Given the description of an element on the screen output the (x, y) to click on. 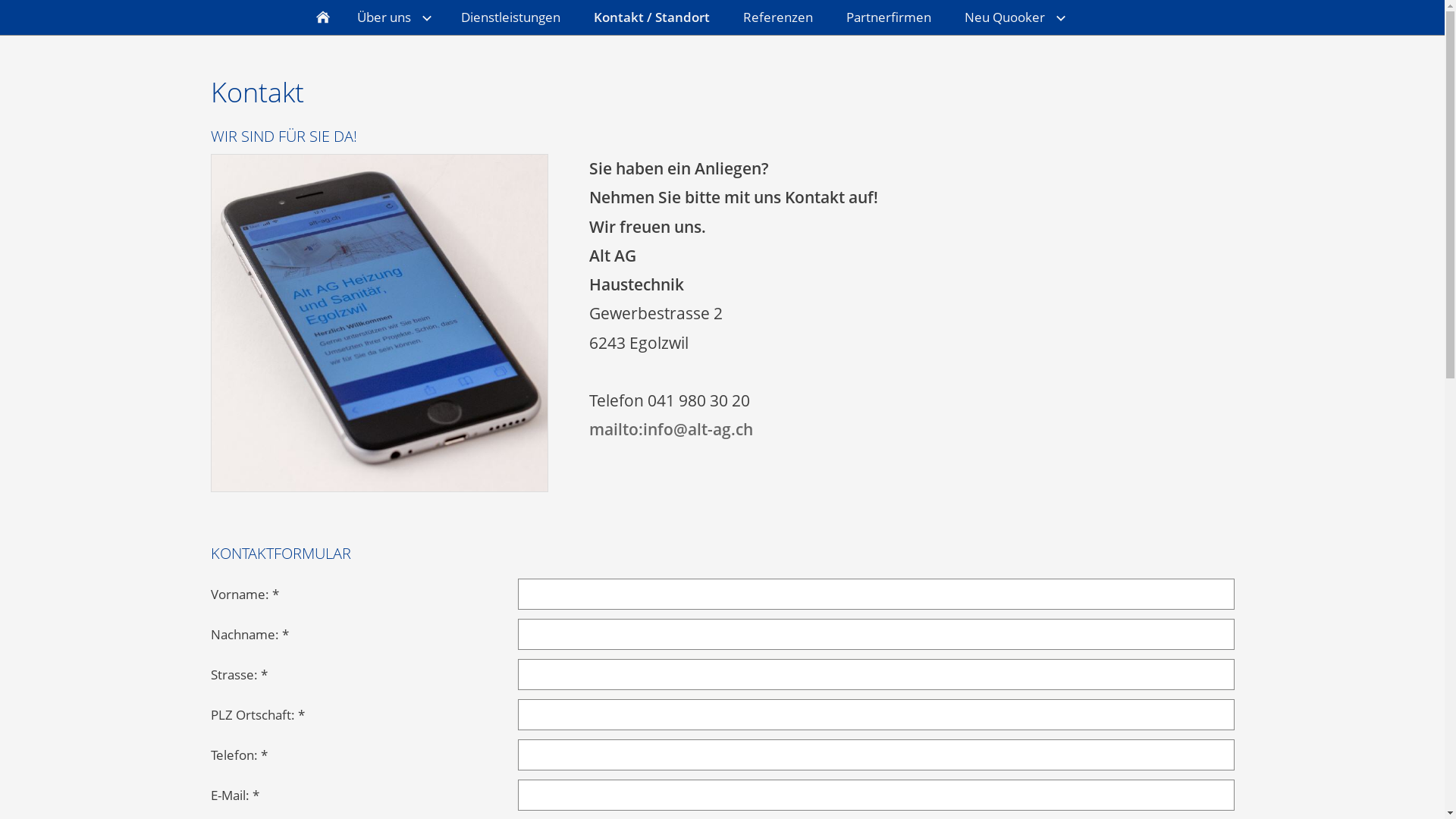
Dienstleistungen Element type: text (510, 17)
Kontakt / Standort Element type: text (650, 17)
Partnerfirmen Element type: text (888, 17)
mailto:info@alt-ag.ch Element type: text (671, 428)
Neu Quooker Element type: text (1012, 17)
Referenzen Element type: text (777, 17)
